Given the description of an element on the screen output the (x, y) to click on. 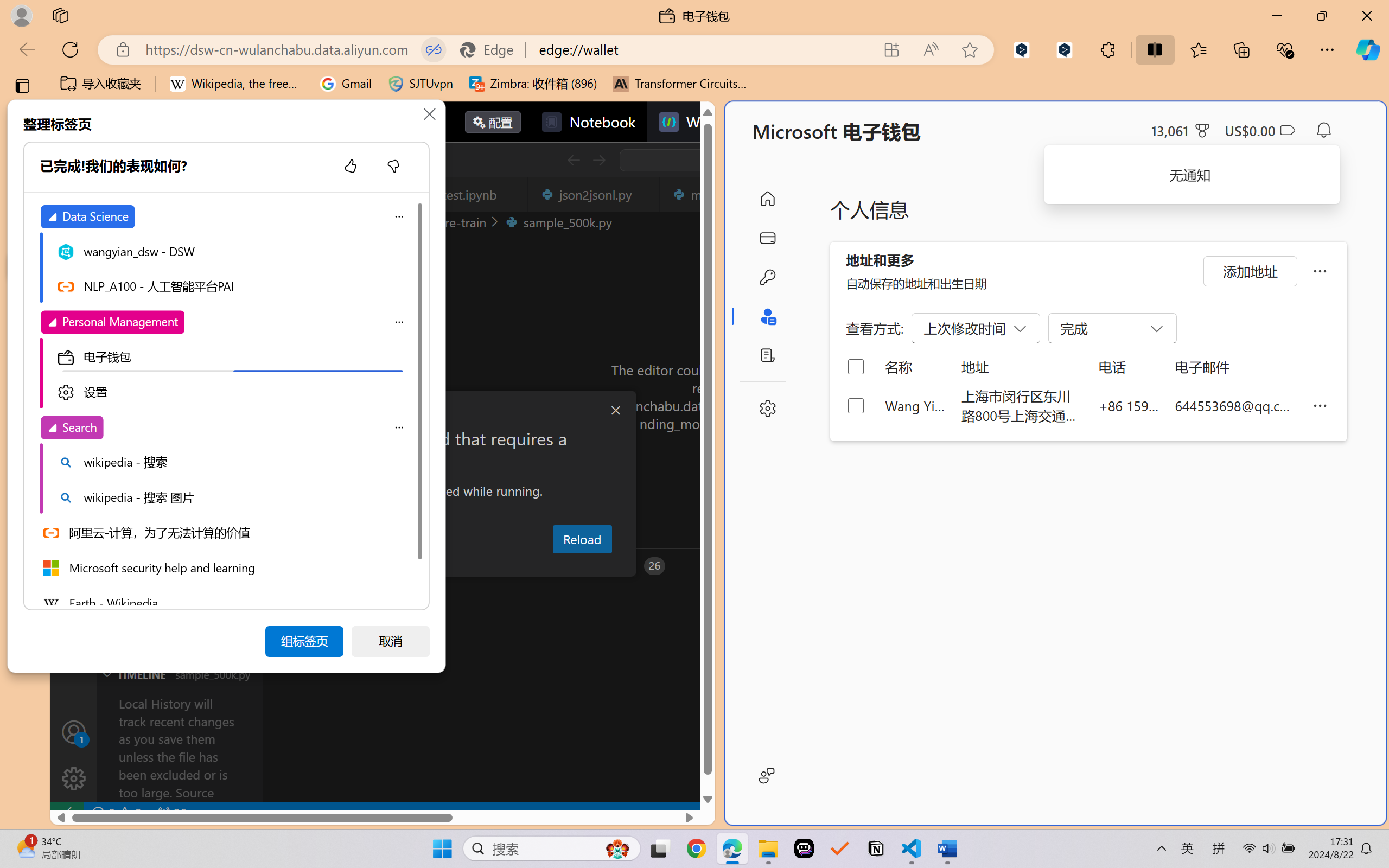
Close Dialog (615, 410)
No Problems (115, 812)
